Given the description of an element on the screen output the (x, y) to click on. 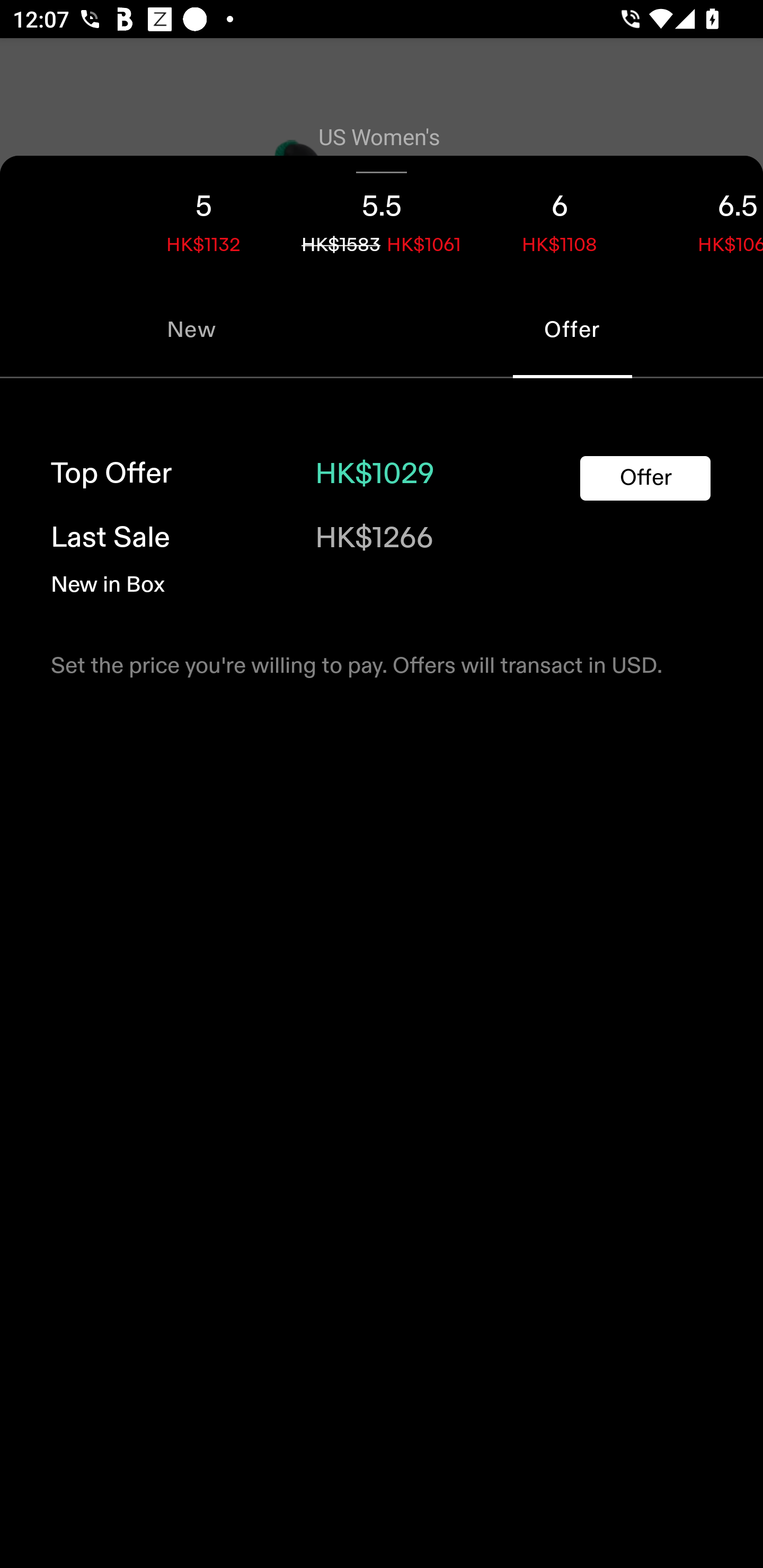
5 HK$1132 (203, 218)
5.5 HK$1583 HK$1061 (381, 218)
6 HK$1108 (559, 218)
6.5 HK$1068 (705, 218)
New (190, 329)
Offer (644, 477)
